Given the description of an element on the screen output the (x, y) to click on. 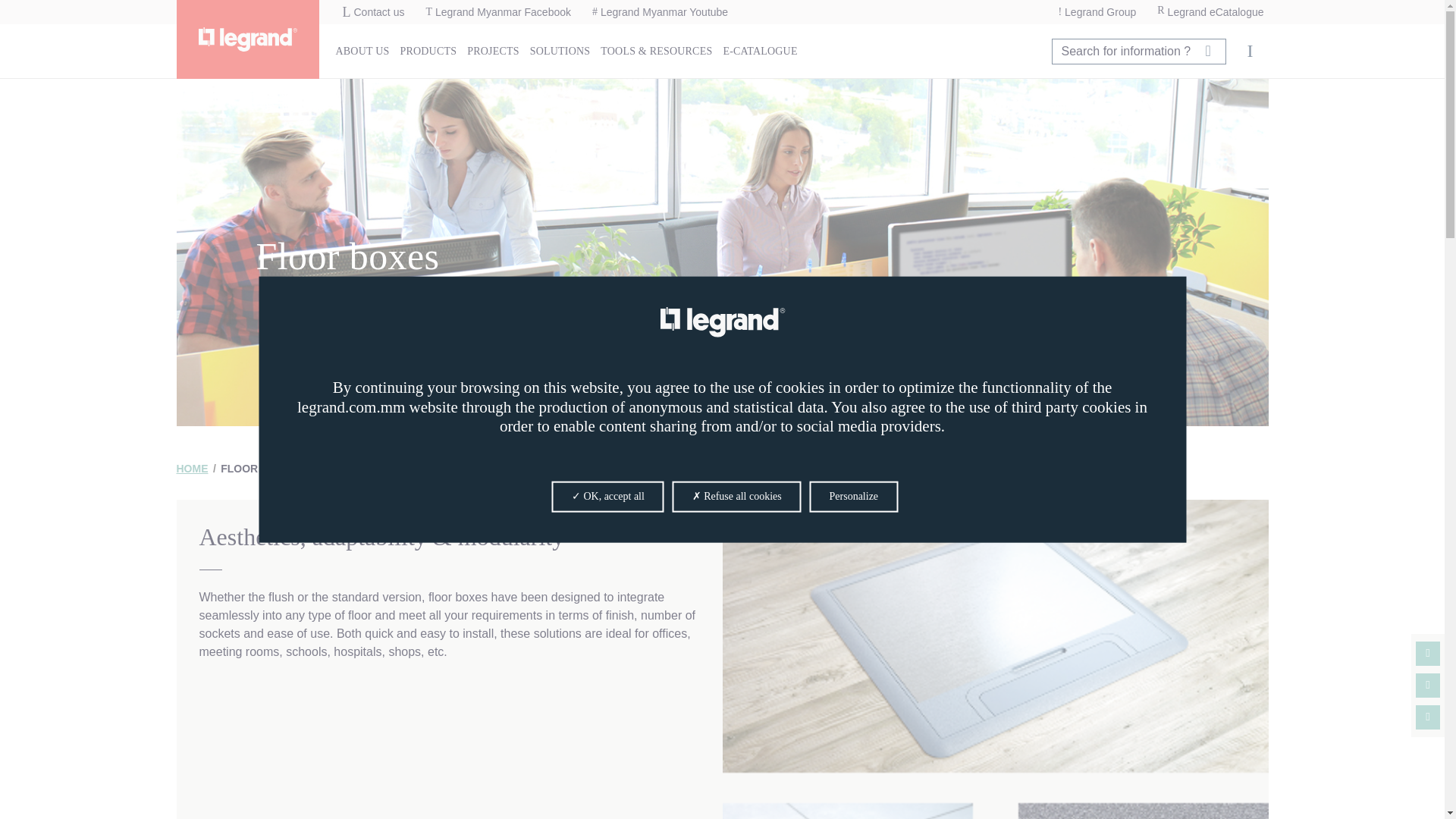
Legrand Myanmar Youtube (660, 12)
Legrand eCatalogue (1210, 12)
Legrand Myanmar Facebook (497, 12)
YouTube Legrand Myanmar (1427, 685)
Facebook Legrand Myanmar (1427, 653)
Contact us (373, 12)
LinkedIn Legrand Myanmar (1427, 717)
Legrand Myanmar Facebook (497, 12)
Legrand Group (1096, 12)
Legrand Myanmar Youtube (660, 12)
Legrand eCatalogue (1210, 12)
Contact us (373, 12)
Legrand Group (1096, 12)
